Given the description of an element on the screen output the (x, y) to click on. 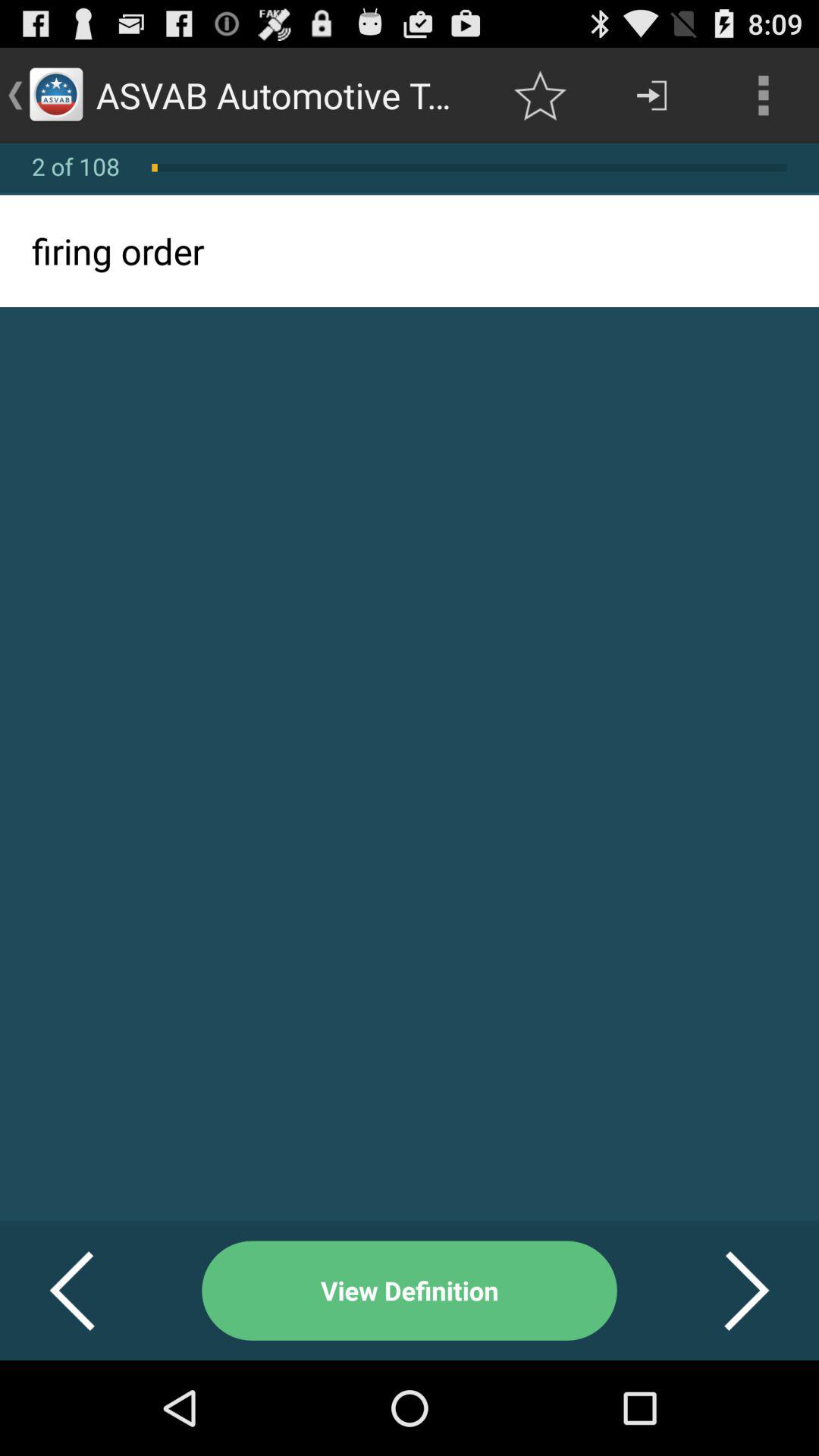
select view definition (409, 1290)
